Given the description of an element on the screen output the (x, y) to click on. 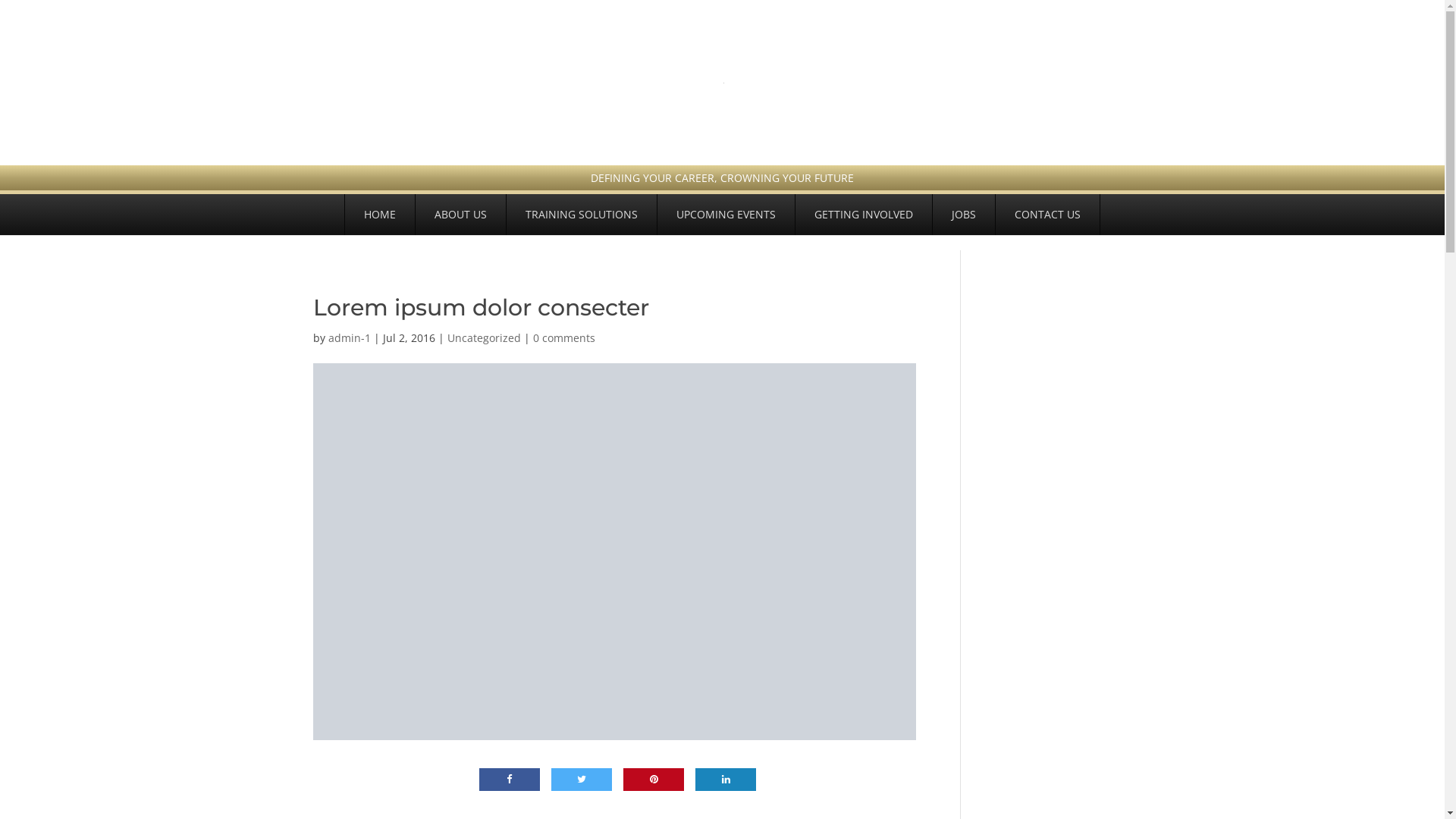
Uncategorized Element type: text (483, 337)
CONTACT US Element type: text (1047, 214)
TRAINING SOLUTIONS Element type: text (581, 214)
0 comments Element type: text (563, 337)
admin-1 Element type: text (348, 337)
HOME Element type: text (379, 214)
JOBS Element type: text (963, 214)
ABOUT US Element type: text (460, 214)
GETTING INVOLVED Element type: text (863, 214)
UPCOMING EVENTS Element type: text (725, 214)
